Given the description of an element on the screen output the (x, y) to click on. 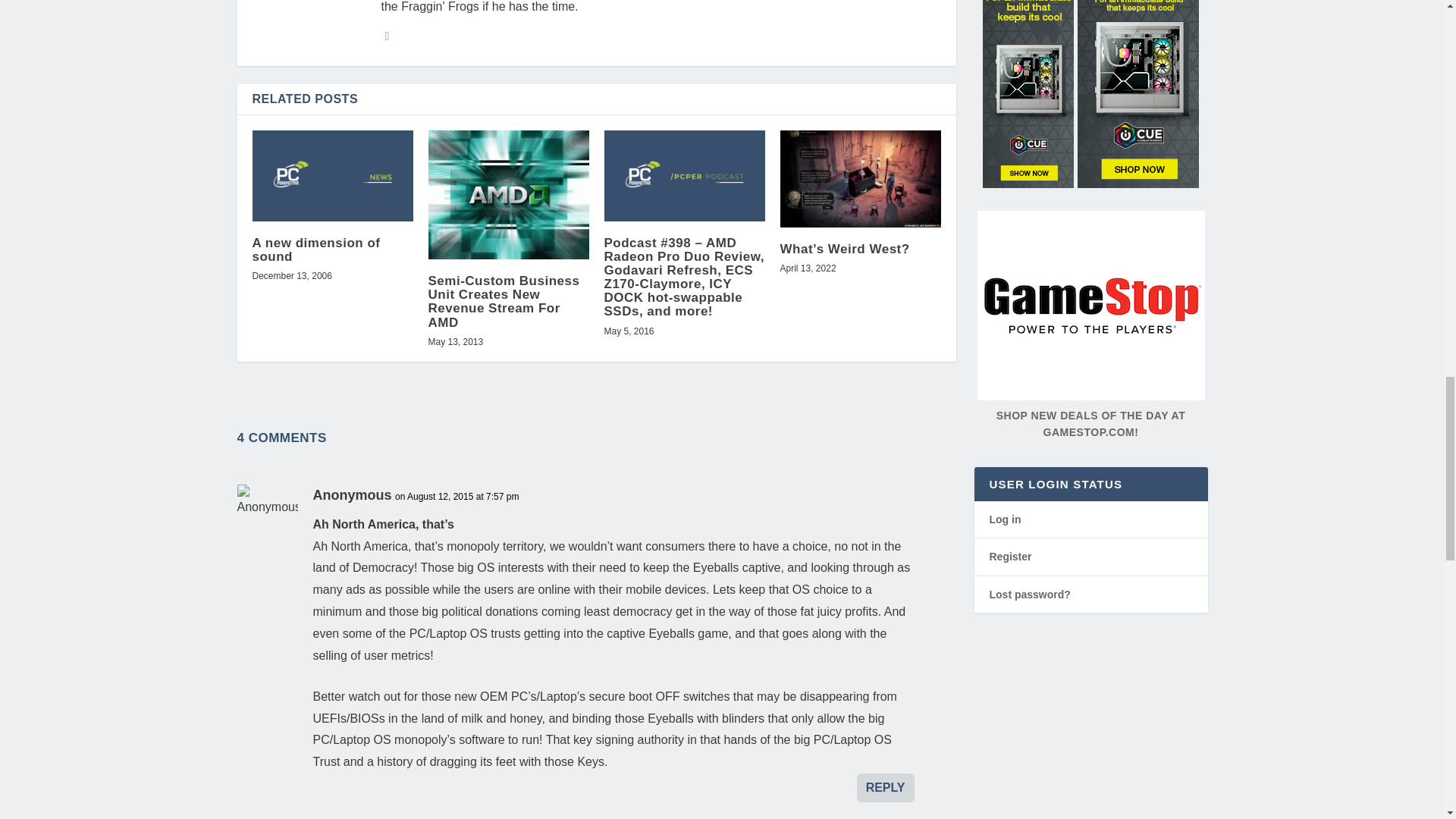
Semi-Custom Business Unit Creates New Revenue Stream For AMD (508, 194)
A new dimension of sound (331, 175)
